Given the description of an element on the screen output the (x, y) to click on. 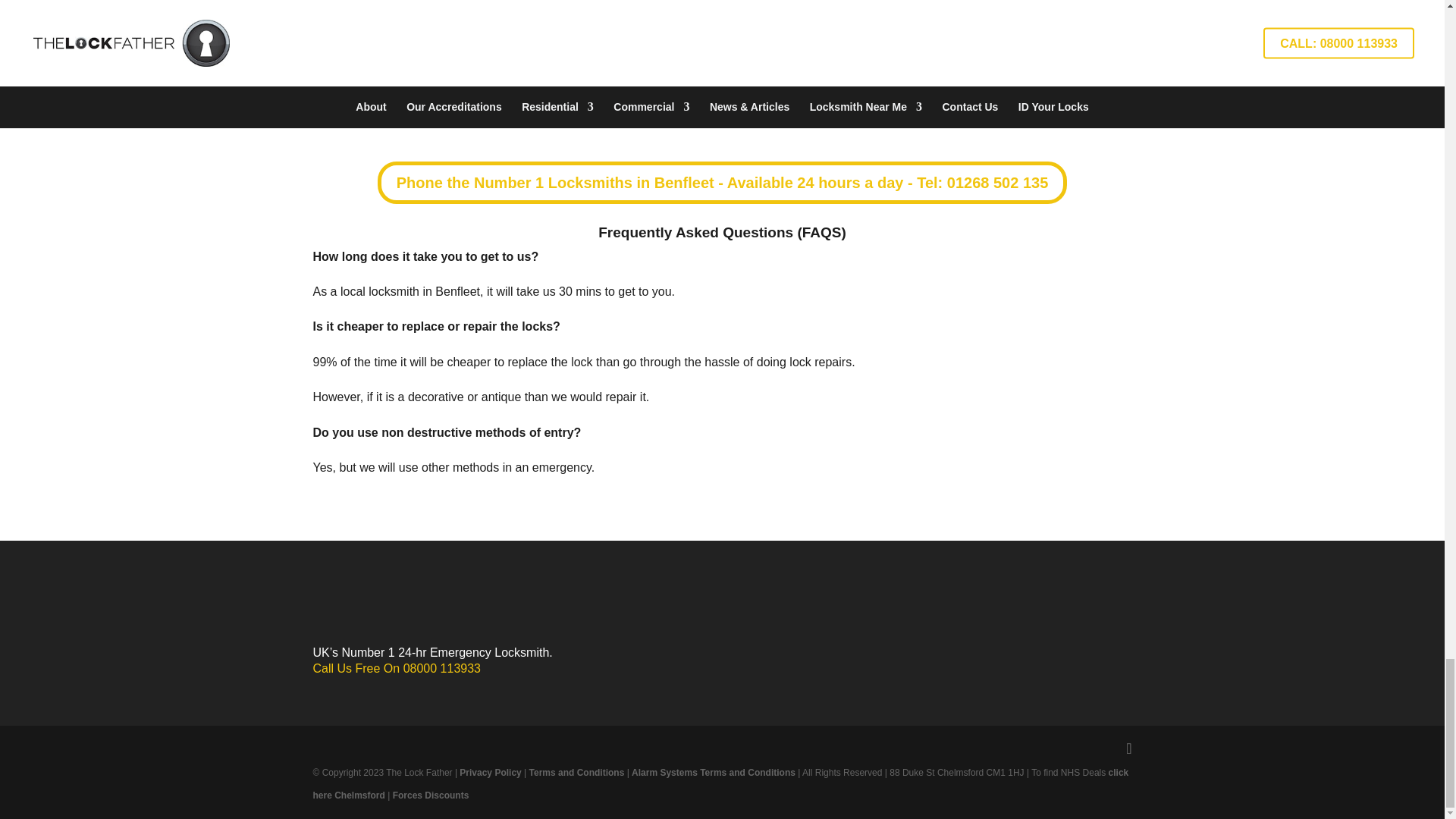
emergency-locksmiths-benfleet (722, 69)
Call Us Free On (358, 667)
Privacy Policy (490, 772)
08000 113933 (441, 667)
